Given the description of an element on the screen output the (x, y) to click on. 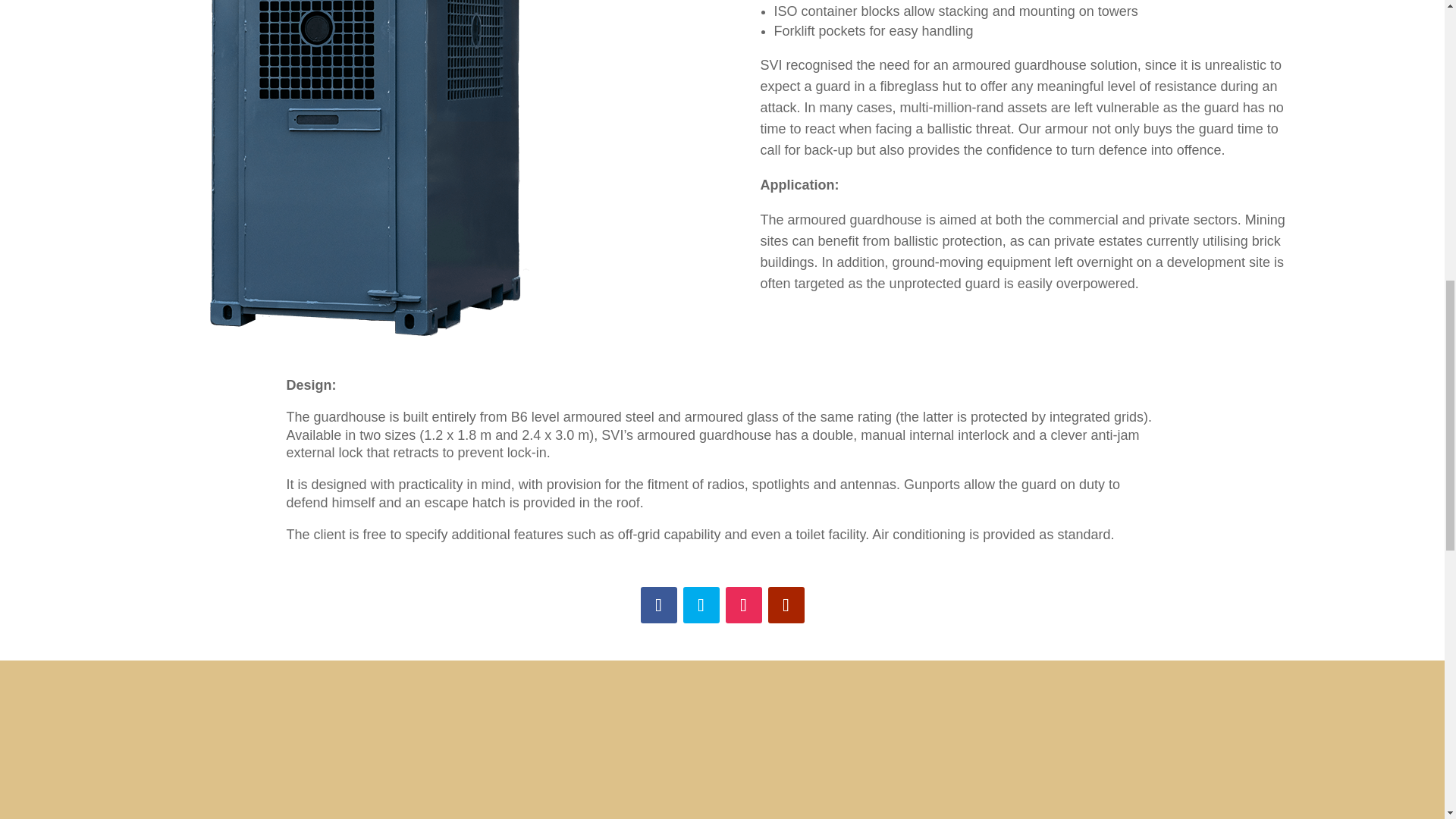
Follow on Facebook (658, 605)
Follow on Twitter (700, 605)
Follow on Youtube (785, 605)
Follow on Instagram (743, 605)
